Given the description of an element on the screen output the (x, y) to click on. 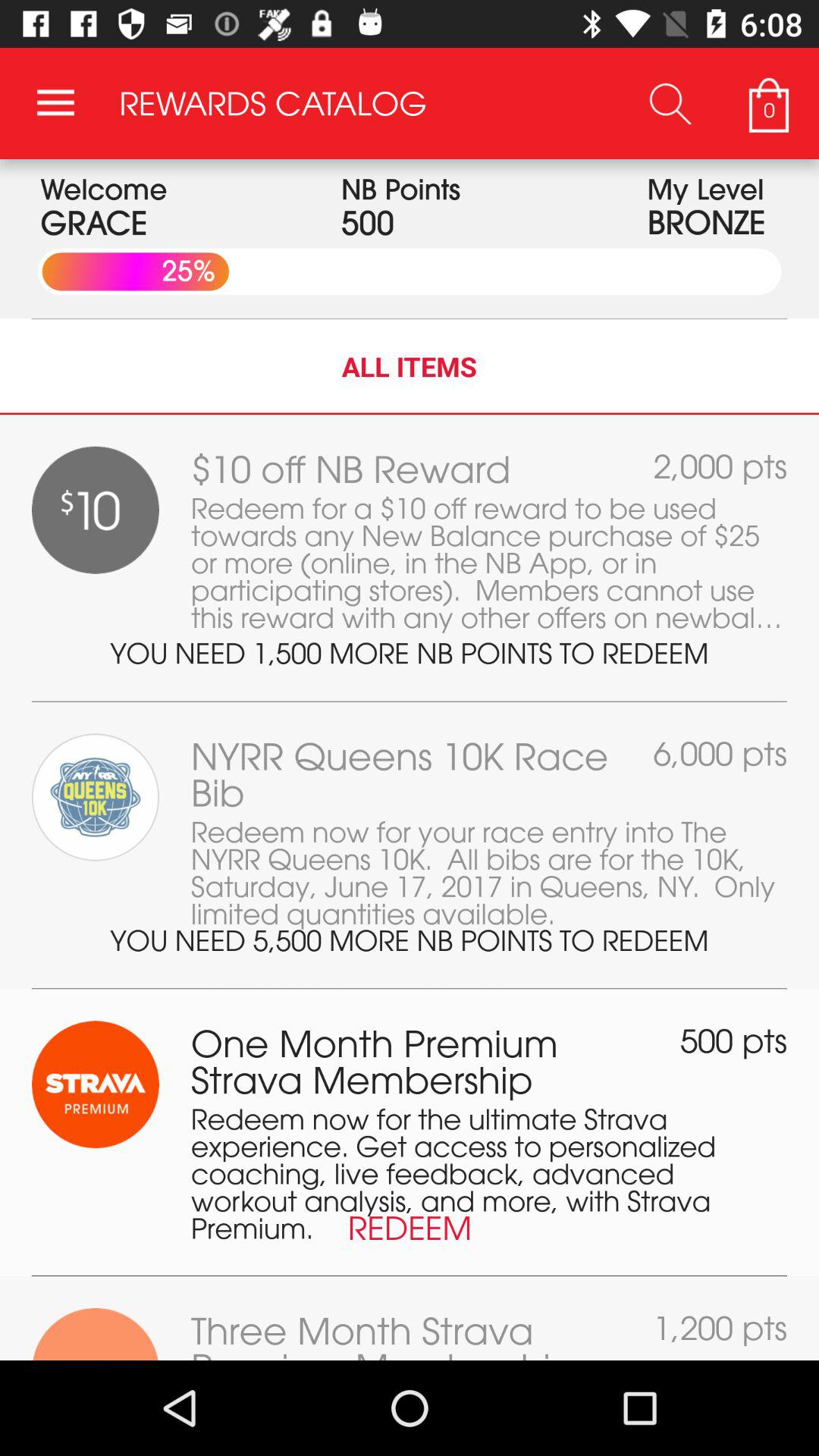
tap the app to the right of the rewards catalog (670, 103)
